Given the description of an element on the screen output the (x, y) to click on. 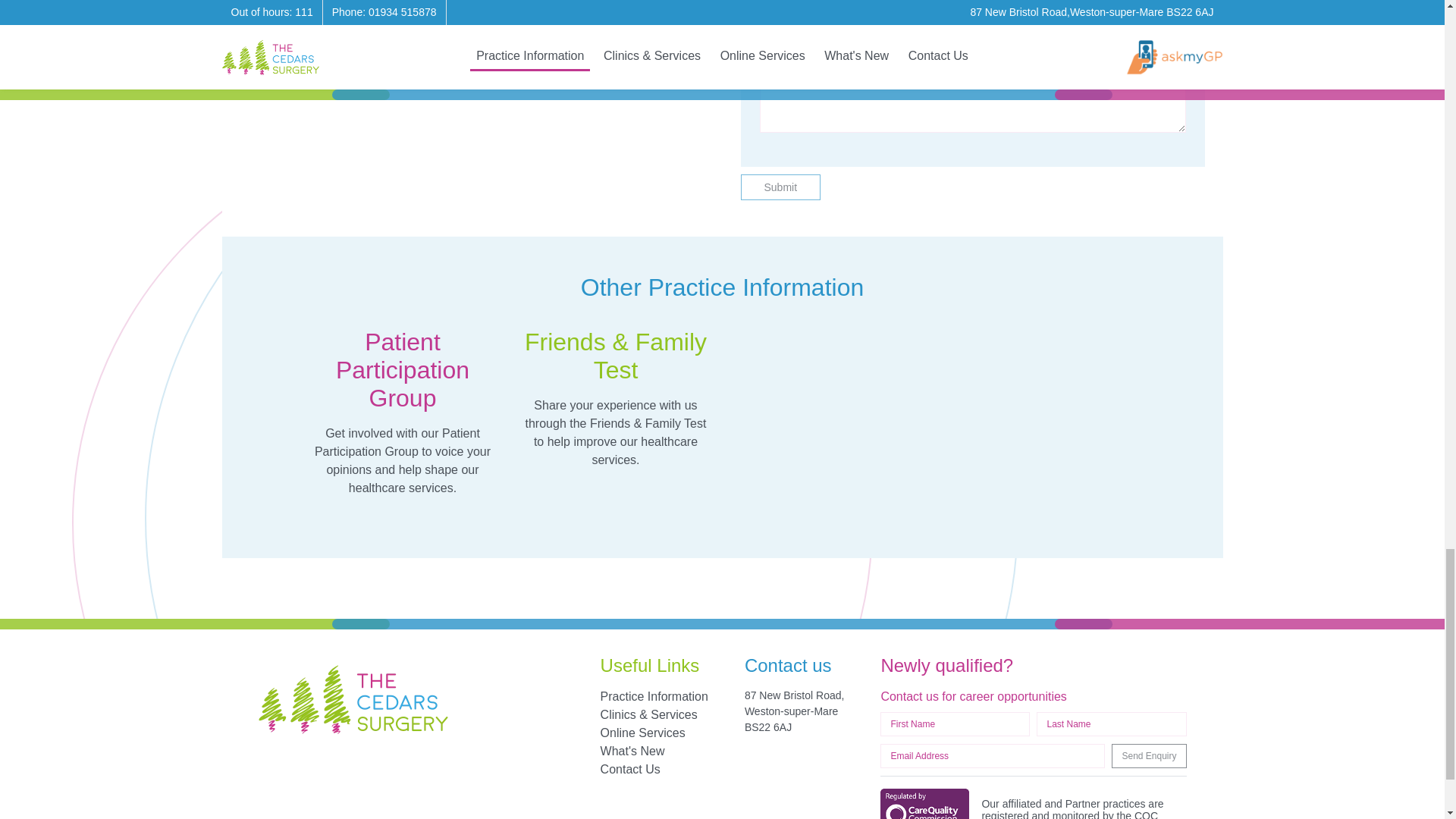
Send Enquiry (1149, 755)
